Given the description of an element on the screen output the (x, y) to click on. 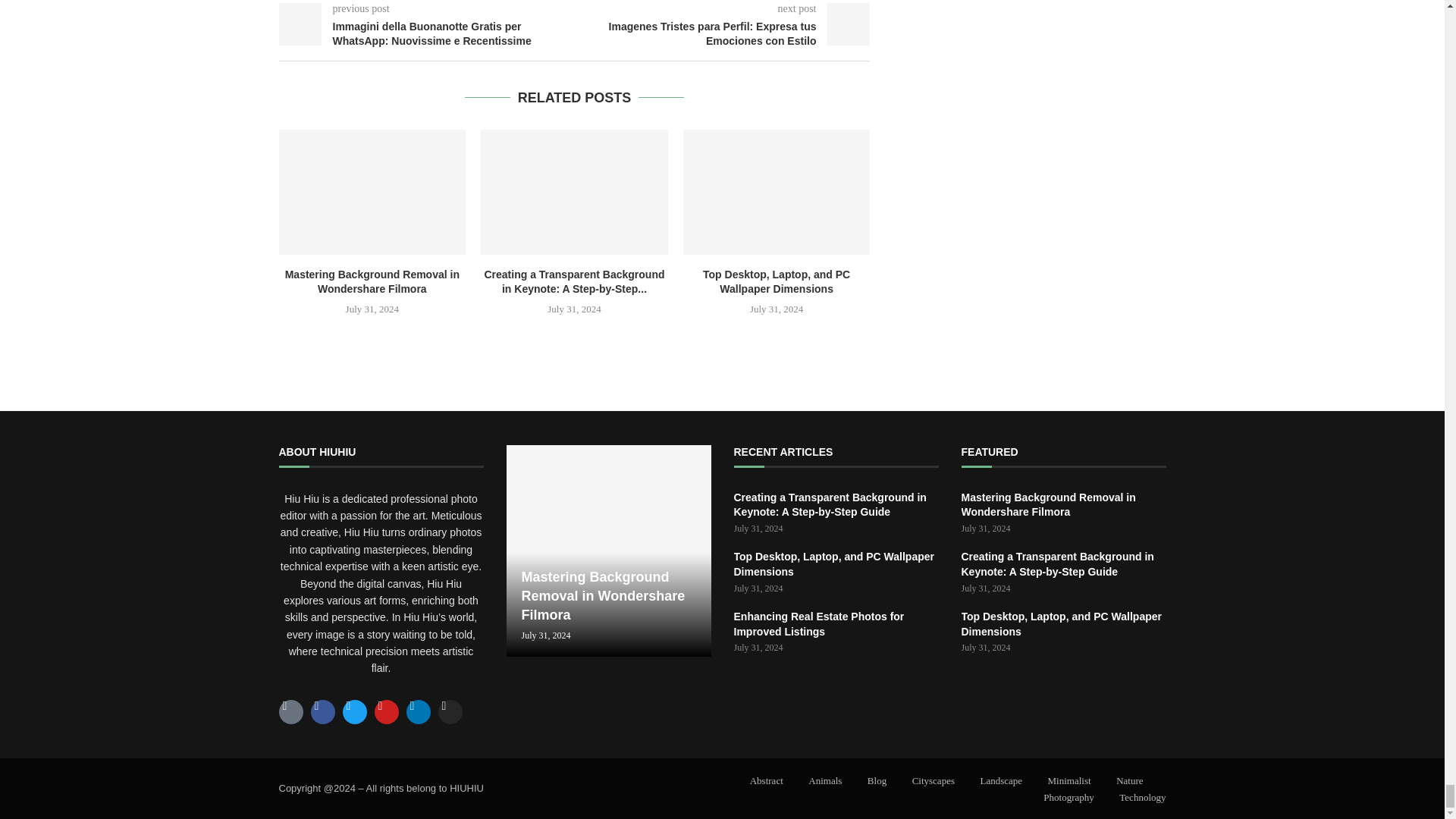
Top Desktop, Laptop, and PC Wallpaper Dimensions (776, 280)
Mastering Background Removal in Wondershare Filmora (372, 280)
